Given the description of an element on the screen output the (x, y) to click on. 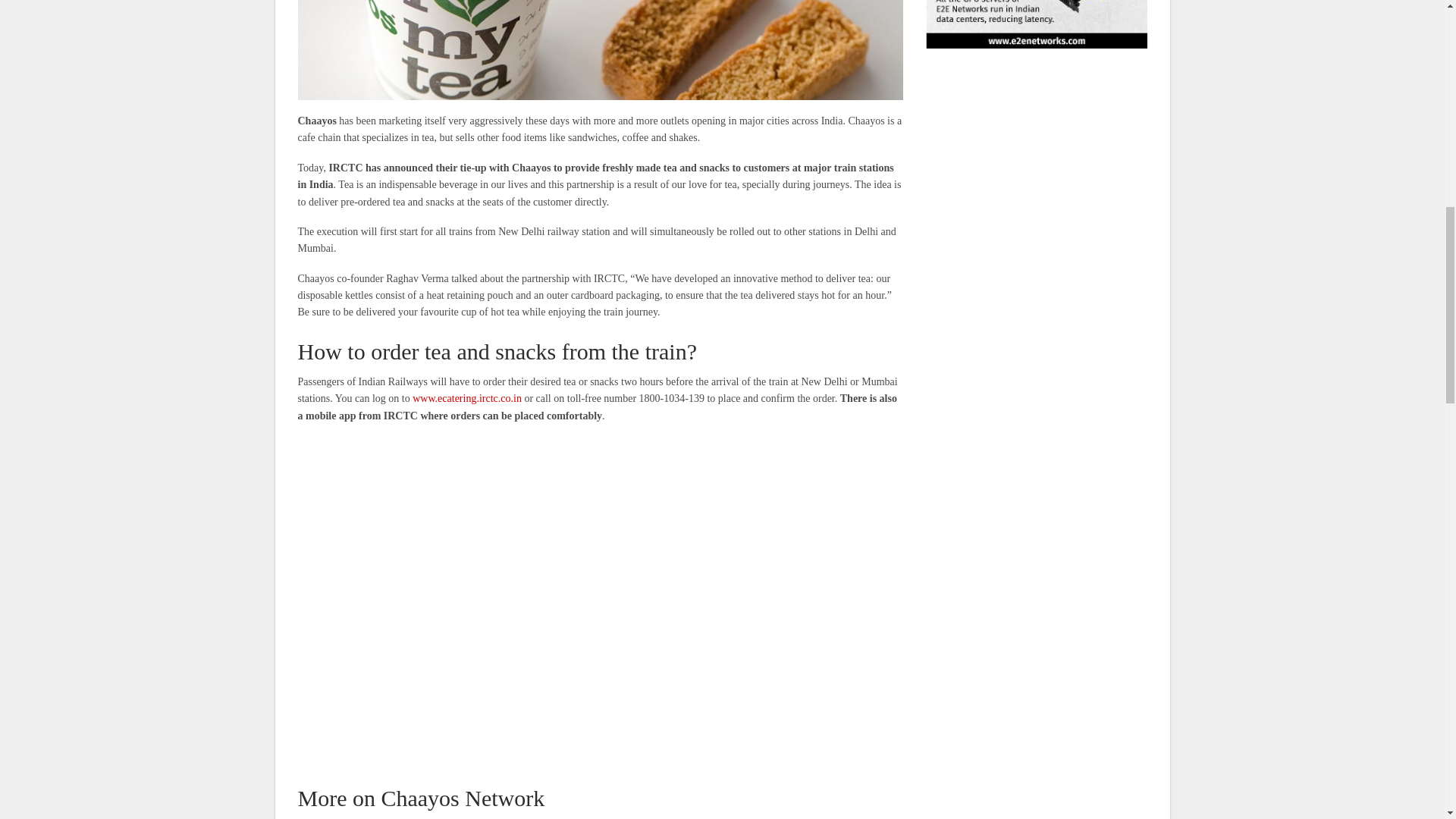
www.ecatering.irctc.co.in (466, 398)
Chaayos (599, 49)
www.ecatering.irctc.co.in (466, 398)
